Given the description of an element on the screen output the (x, y) to click on. 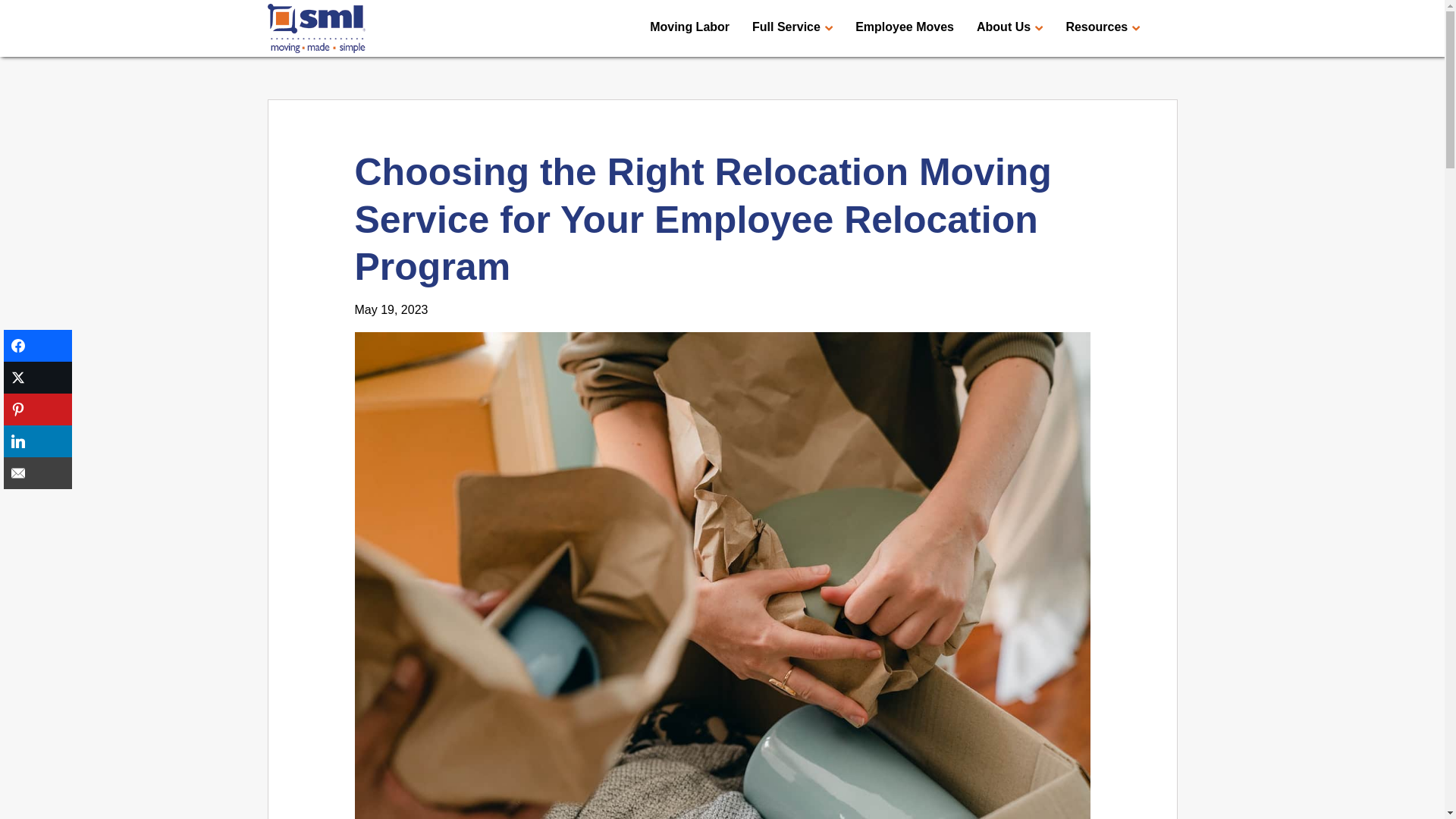
Share on Twitter (37, 377)
Share on Email (37, 472)
Resources (1102, 27)
Share on LinkedIn (37, 441)
Moving Labor (689, 27)
Share on Pinterest (37, 409)
Full Service (792, 27)
Employee Moves (904, 27)
Share on Facebook (37, 345)
About Us (1009, 27)
